Given the description of an element on the screen output the (x, y) to click on. 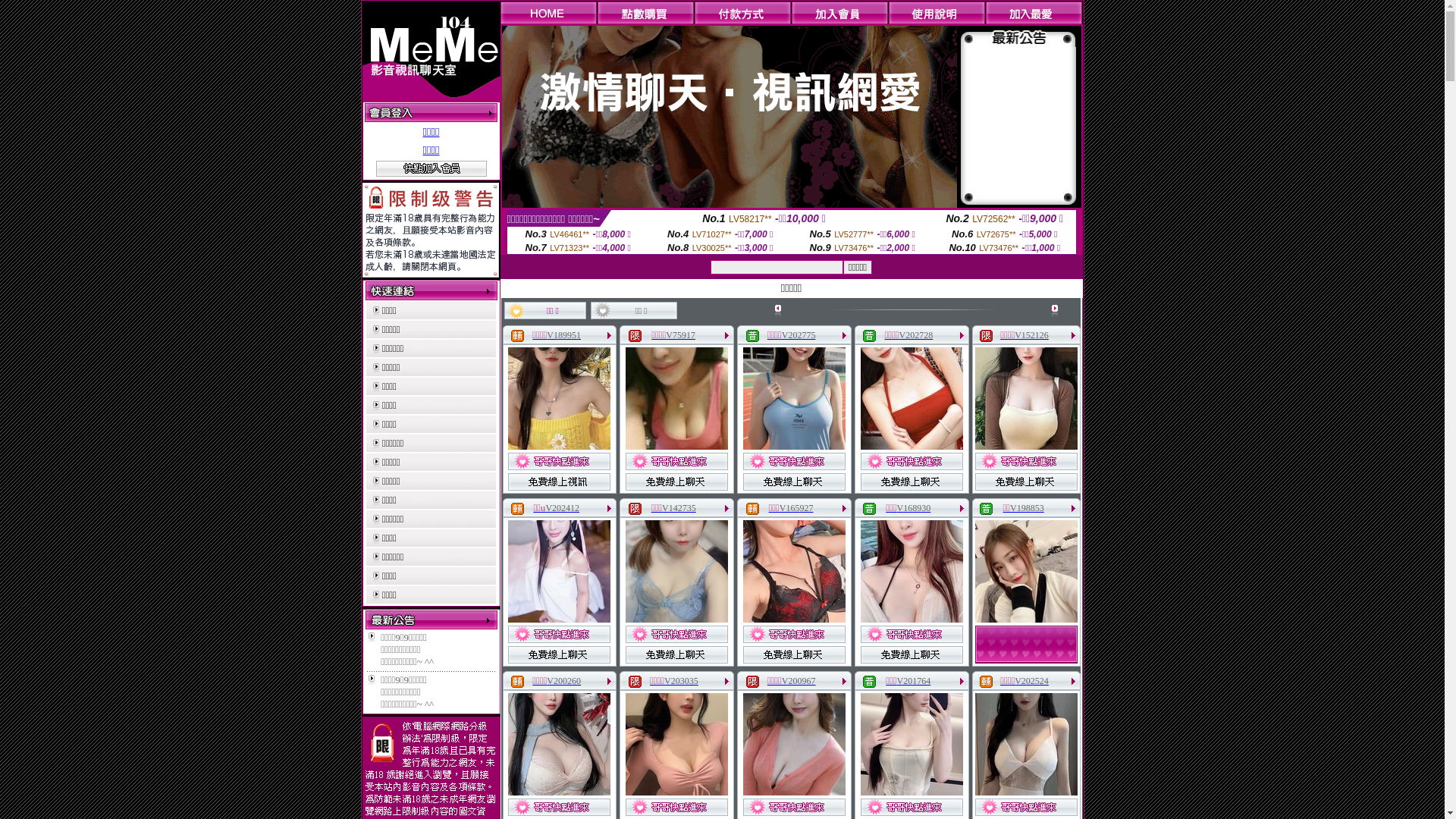
V203035 Element type: text (681, 680)
V168930 Element type: text (914, 507)
V202412 Element type: text (562, 507)
V165927 Element type: text (796, 507)
V152126 Element type: text (1031, 334)
V200260 Element type: text (563, 680)
V202728 Element type: text (916, 334)
V189951 Element type: text (563, 334)
V202524 Element type: text (1031, 680)
V142735 Element type: text (679, 507)
V198853 Element type: text (1027, 507)
V75917 Element type: text (680, 334)
V201764 Element type: text (914, 680)
V200967 Element type: text (798, 680)
V202775 Element type: text (798, 334)
